Given the description of an element on the screen output the (x, y) to click on. 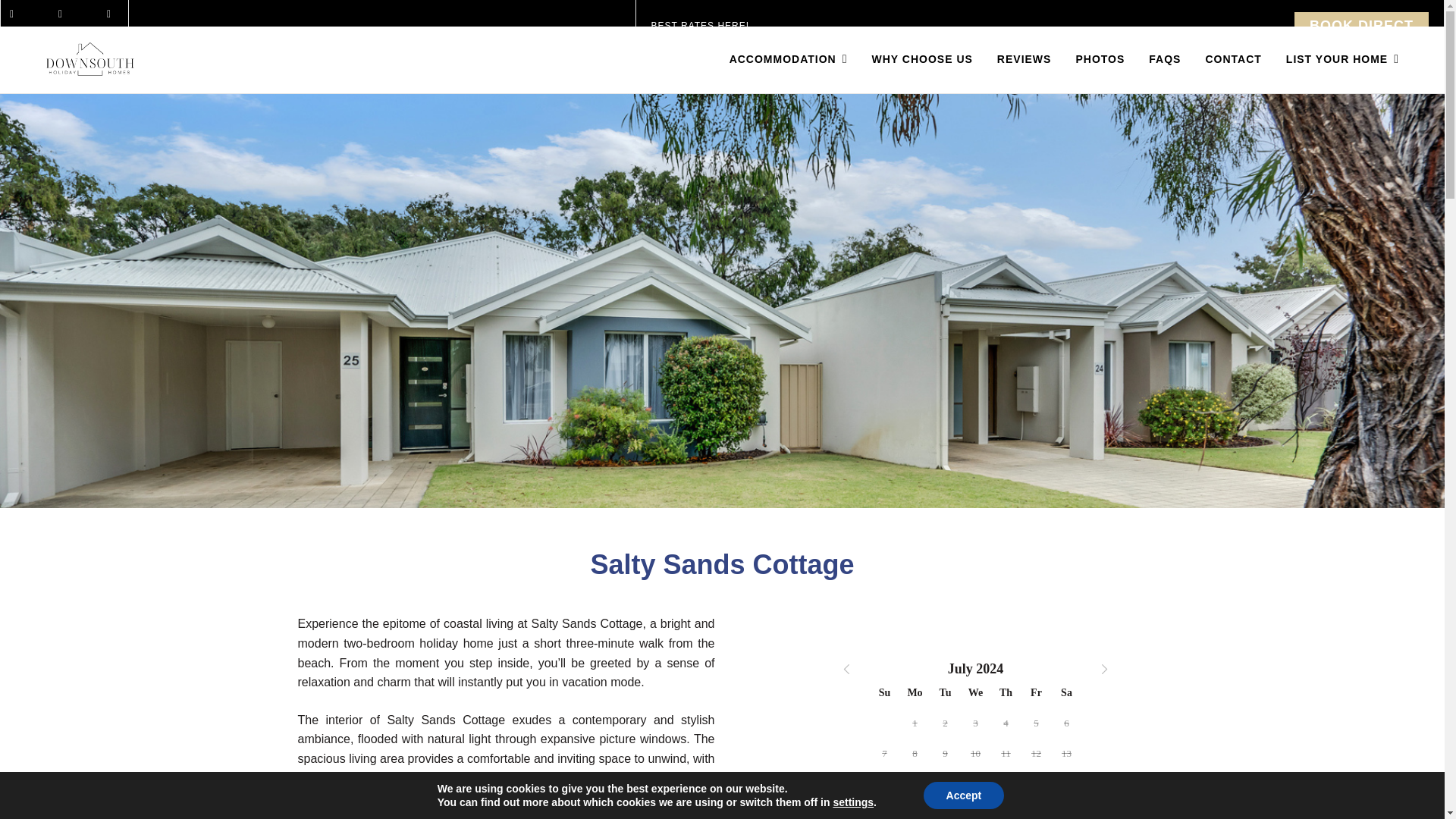
DownSouth Holiday Homes (110, 59)
FACEBOOK (15, 13)
LINKEDIN (112, 13)
WHY CHOOSE US (922, 59)
INSTAGRAM (64, 13)
ACCOMMODATION (794, 59)
BEST RATES HERE! (699, 25)
LIST YOUR HOME (1336, 59)
CONTACT (1232, 59)
REVIEWS (1024, 59)
BOOK DIRECT (1361, 25)
FAQS (1164, 59)
PHOTOS (1099, 59)
